Given the description of an element on the screen output the (x, y) to click on. 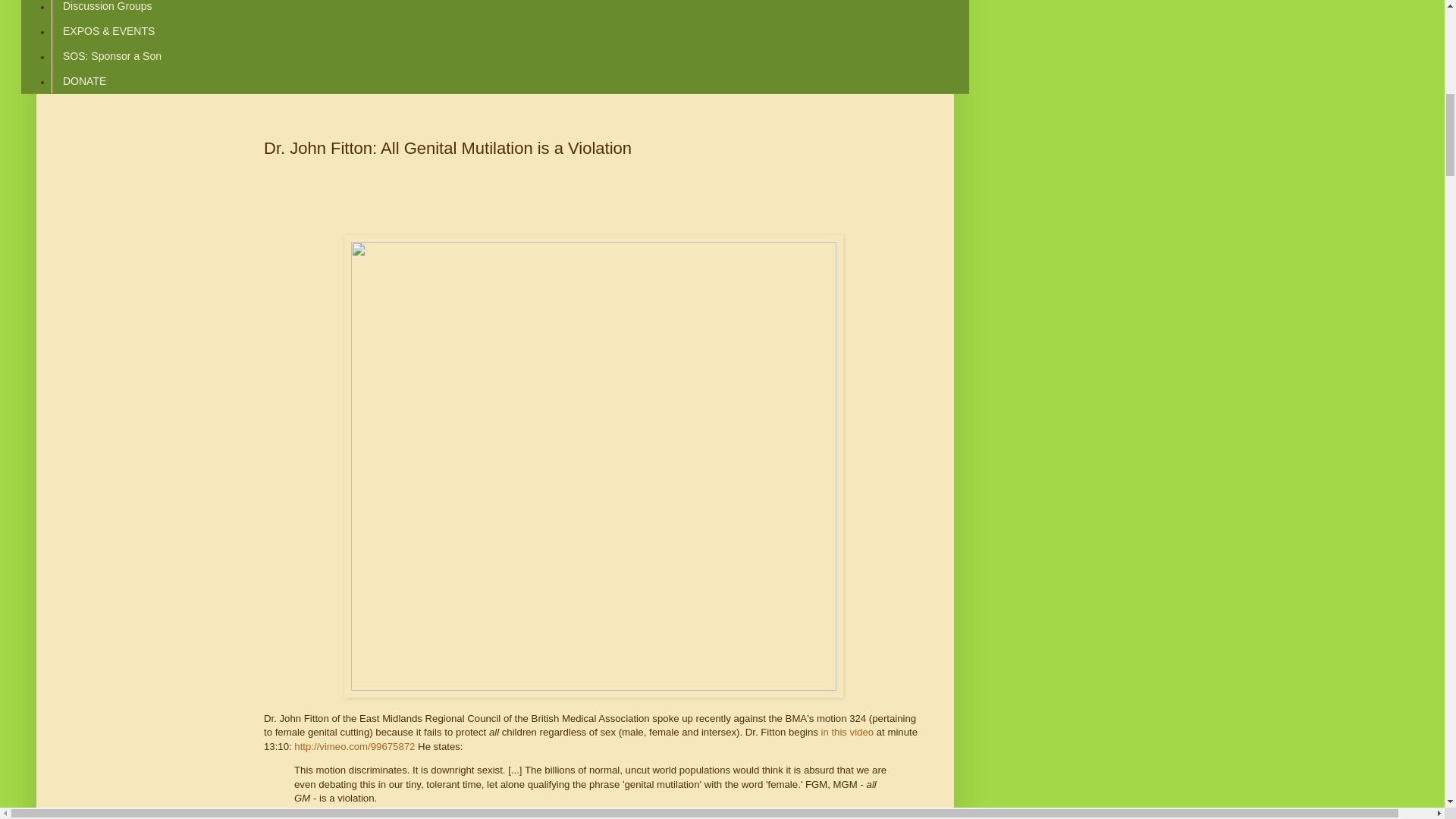
DONATE (83, 80)
Discussion Groups (106, 9)
SOS: Sponsor a Son (110, 56)
in this video (847, 731)
